Given the description of an element on the screen output the (x, y) to click on. 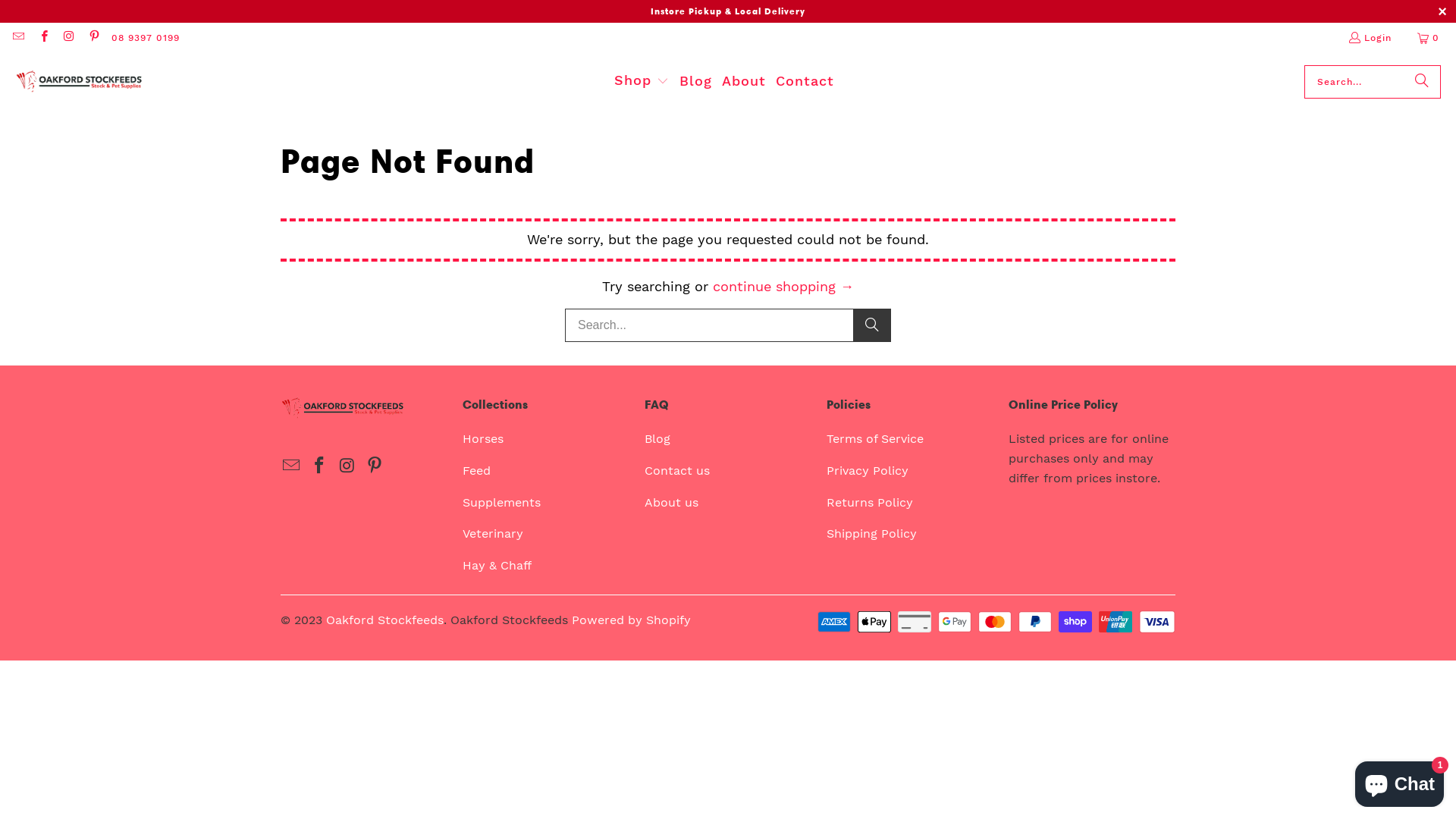
Oakford Stockfeeds on Facebook Element type: hover (319, 466)
Oakford Stockfeeds on Pinterest Element type: hover (375, 466)
Email Oakford Stockfeeds Element type: hover (291, 466)
Shipping Policy Element type: text (871, 533)
Login Element type: text (1369, 38)
Privacy Policy Element type: text (867, 470)
Blog Element type: text (657, 438)
Oakford Stockfeeds Element type: text (384, 619)
Powered by Shopify Element type: text (630, 619)
Oakford Stockfeeds on Facebook Element type: hover (42, 37)
Oakford Stockfeeds Element type: hover (79, 81)
Oakford Stockfeeds on Instagram Element type: hover (68, 37)
Returns Policy Element type: text (869, 502)
Oakford Stockfeeds on Pinterest Element type: hover (93, 37)
Email Oakford Stockfeeds Element type: hover (17, 37)
Terms of Service Element type: text (874, 438)
Hay & Chaff Element type: text (496, 565)
Supplements Element type: text (501, 502)
Blog Element type: text (695, 81)
About us Element type: text (671, 502)
About Element type: text (743, 81)
Contact Element type: text (804, 81)
Contact us Element type: text (676, 470)
Oakford Stockfeeds on Instagram Element type: hover (346, 466)
Horses Element type: text (482, 438)
08 9397 0199 Element type: text (145, 38)
Feed Element type: text (476, 470)
Veterinary Element type: text (492, 533)
Shopify online store chat Element type: hover (1399, 780)
